Given the description of an element on the screen output the (x, y) to click on. 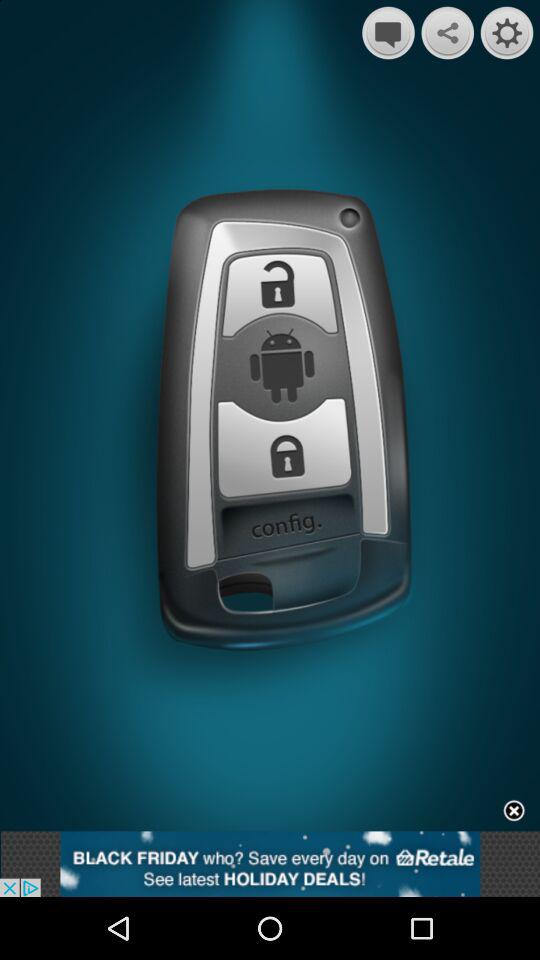
share (447, 32)
